Given the description of an element on the screen output the (x, y) to click on. 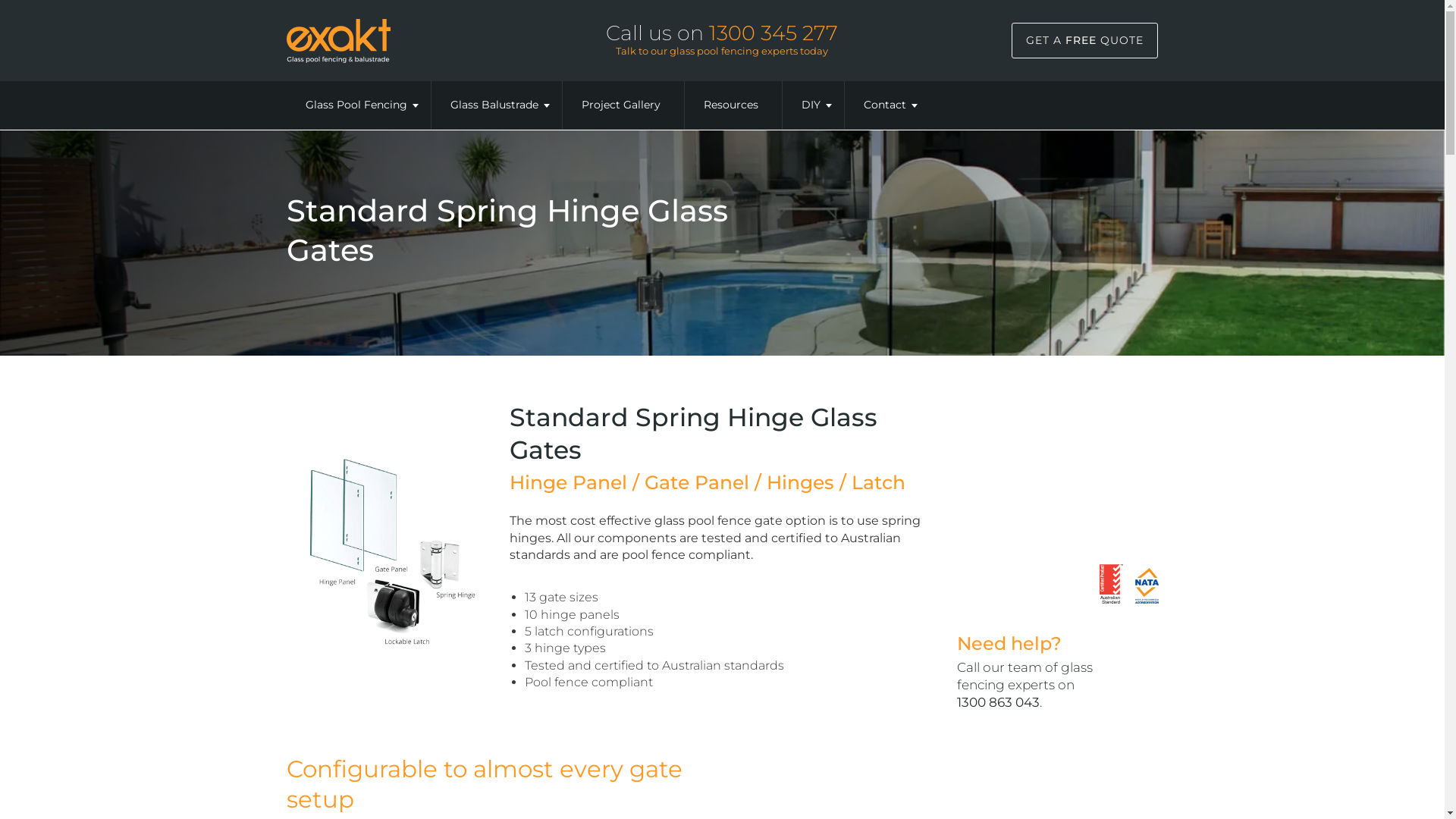
Resources Element type: text (730, 104)
DIY Element type: text (810, 104)
Glass Balustrade Element type: text (493, 104)
vast.png Element type: hover (338, 40)
1300 863 043 Element type: text (998, 701)
Show submenu for DIY Element type: text (828, 105)
1300 345 277 Element type: text (773, 32)
Show submenu for Contact Element type: text (913, 105)
GET A FREE QUOTE Element type: text (1084, 40)
Show submenu for Glass Pool Fencing Element type: text (414, 105)
Glass Pool Fencing Element type: text (356, 104)
Contact Element type: text (884, 104)
Project Gallery Element type: text (620, 104)
Show submenu for Glass Balustrade Element type: text (545, 105)
